Given the description of an element on the screen output the (x, y) to click on. 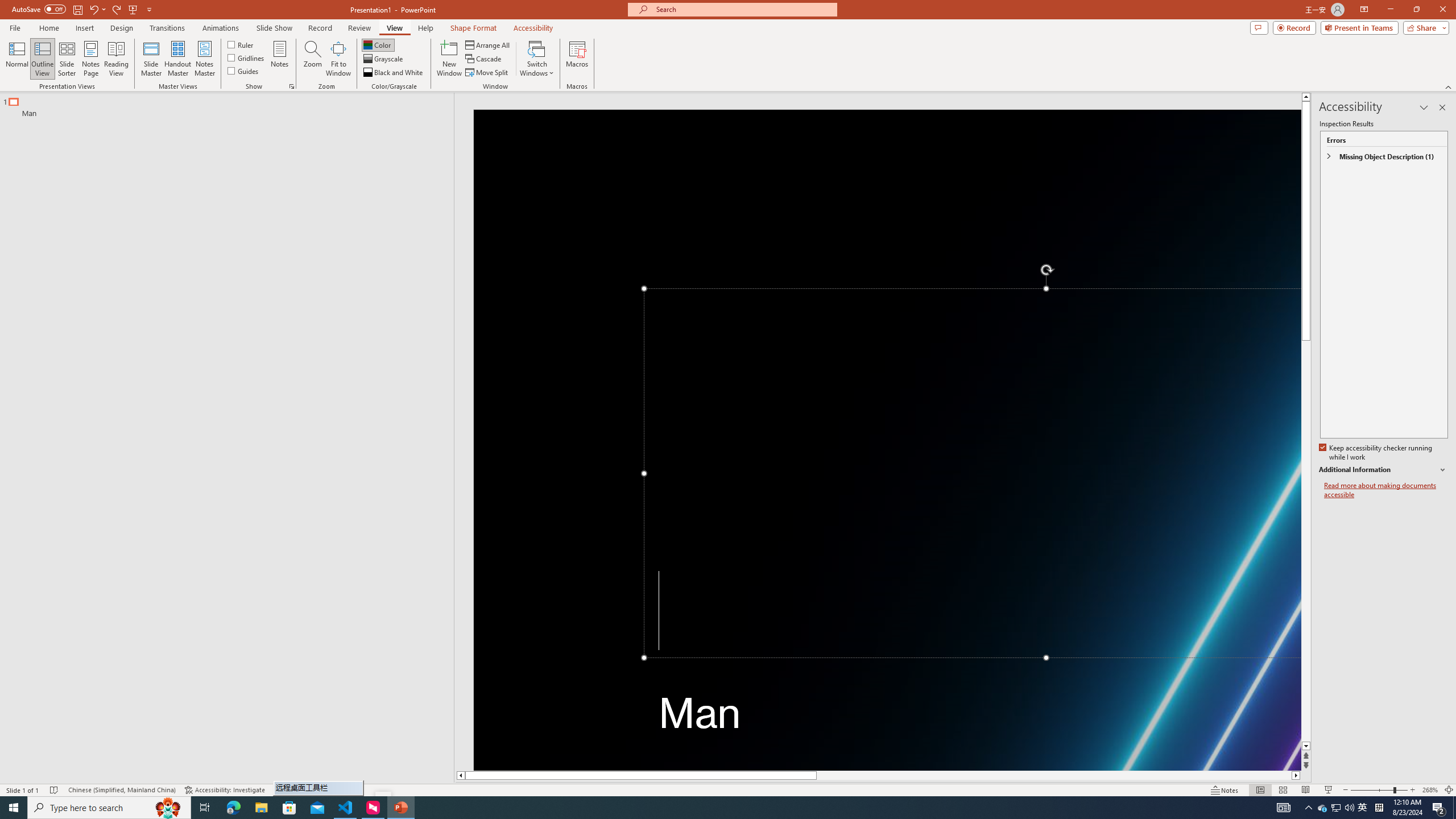
Zoom... (312, 58)
Macros (576, 58)
Notes Page (90, 58)
Ruler (241, 44)
Gridlines (246, 56)
